Given the description of an element on the screen output the (x, y) to click on. 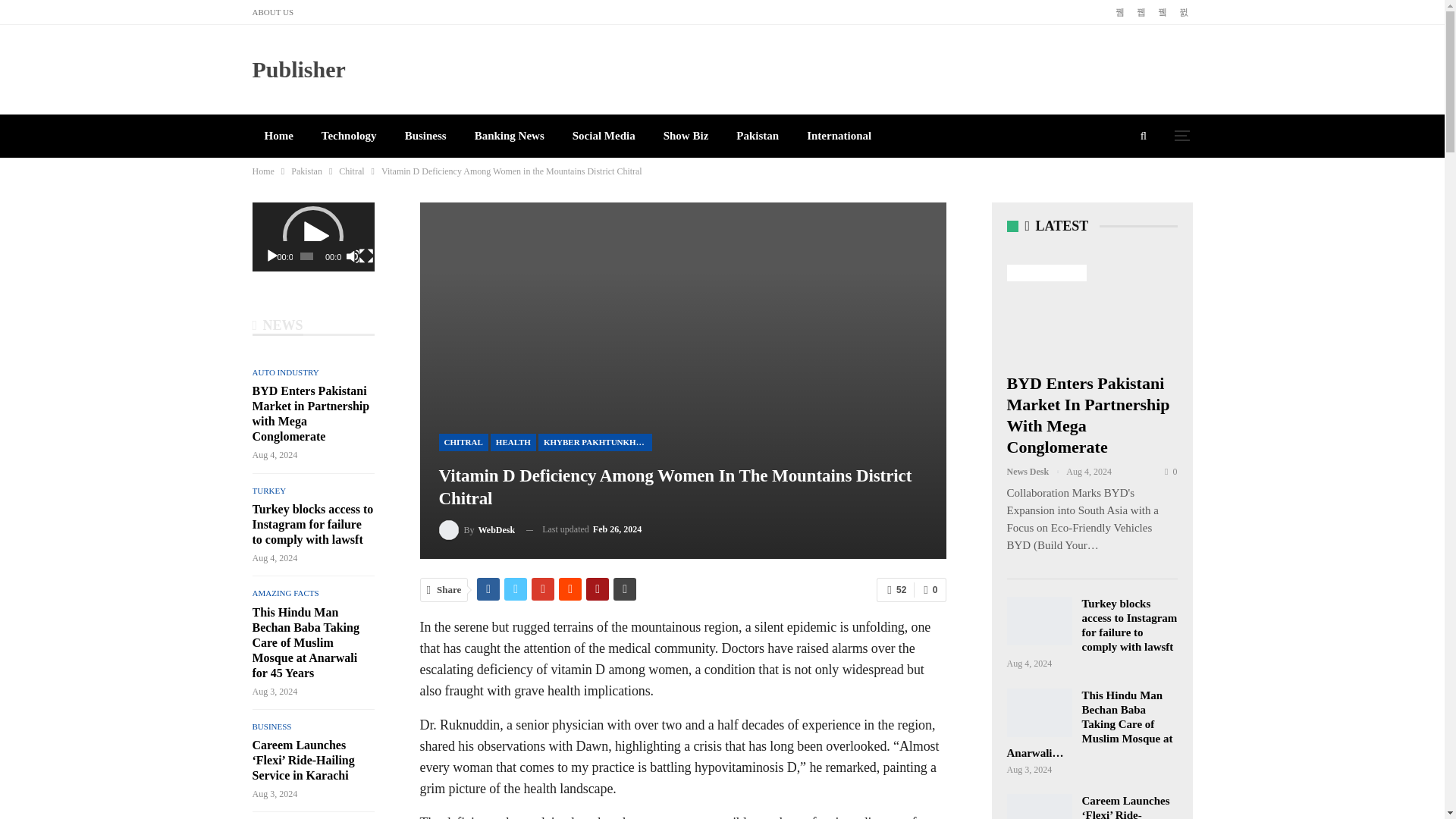
Social Media (603, 136)
Business (425, 136)
Technology (348, 136)
Banking News (509, 136)
Chitral (351, 170)
Pakistan (756, 136)
International (838, 136)
Browse Author Articles (476, 529)
0 (929, 589)
Show Biz (685, 136)
HEALTH (512, 442)
Pakistan (306, 170)
Publisher (298, 68)
KHYBER PAKHTUNKHWA (595, 442)
